Given the description of an element on the screen output the (x, y) to click on. 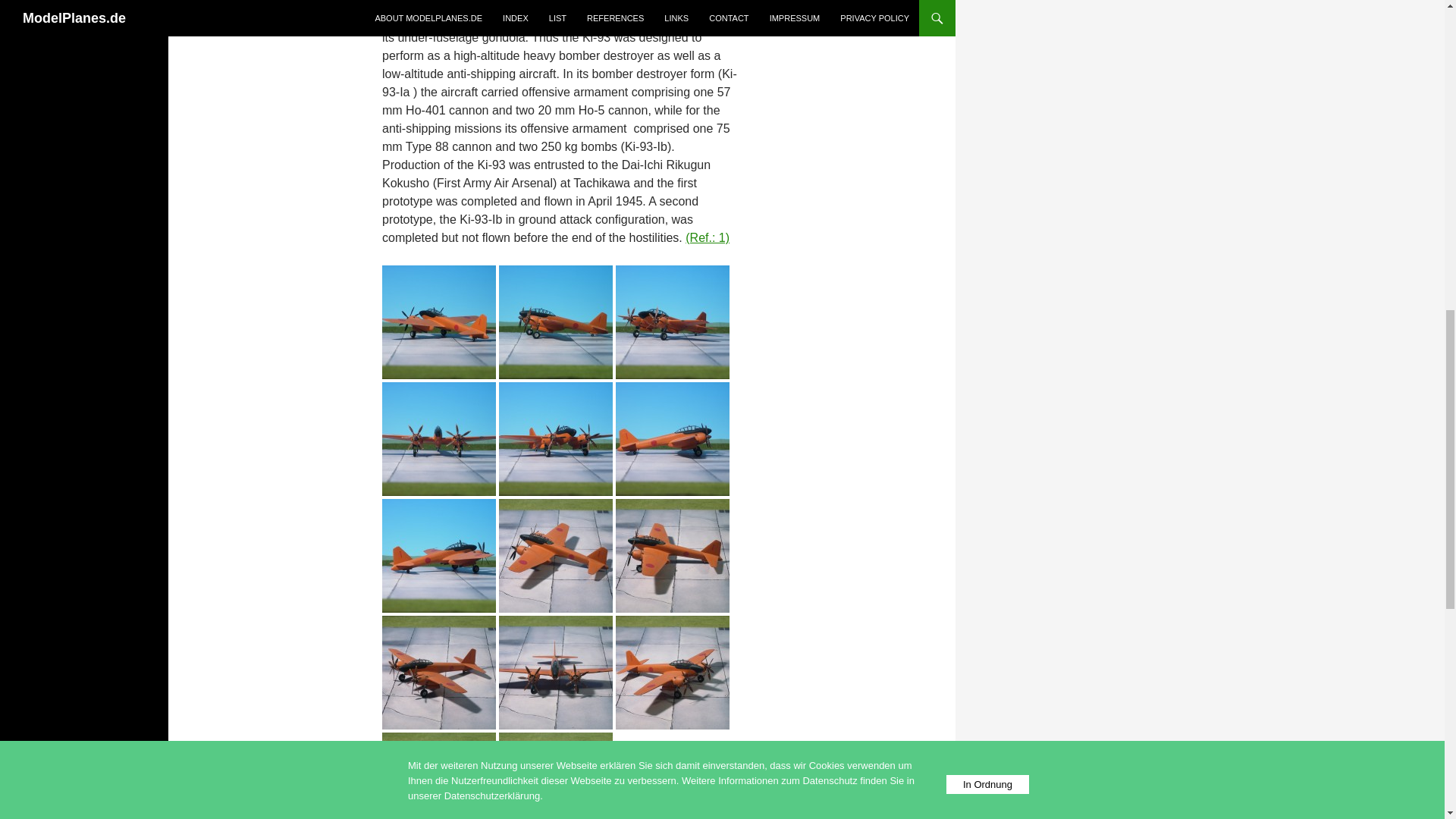
Rikugun Ki-93-Ia (672, 671)
Rikugun Ki-93-Ia (555, 671)
Rikugun Ki-93-Ia (438, 437)
Rikugun Ki-93-Ia (438, 554)
Rikugun Ki-93-Ia (555, 320)
Rikugun Ki-93-Ia (438, 320)
References (707, 237)
Rikugun Ki-93-Ia (438, 788)
Rikugun Ki-93-Ia (555, 788)
Rikugun Ki-93-Ia (555, 437)
